Given the description of an element on the screen output the (x, y) to click on. 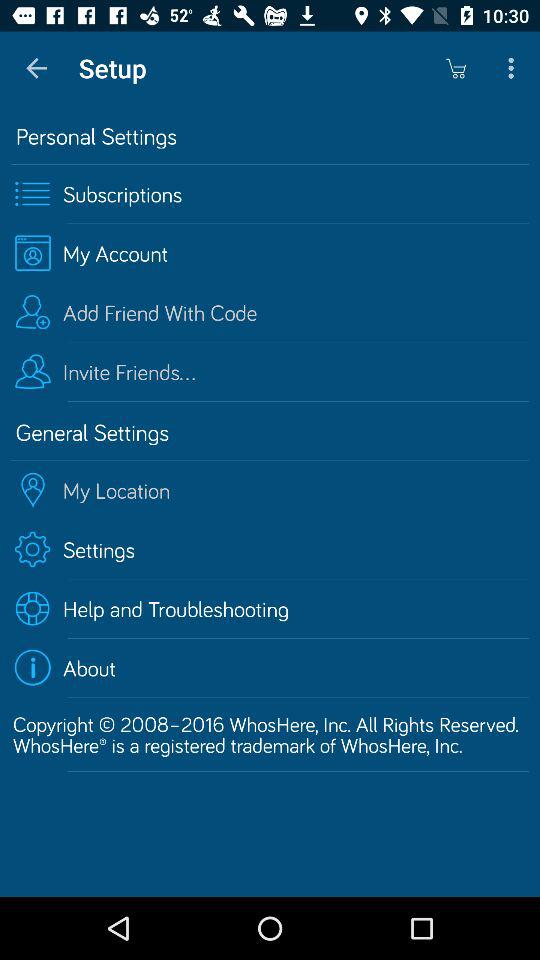
choose the item next to setup app (455, 67)
